Given the description of an element on the screen output the (x, y) to click on. 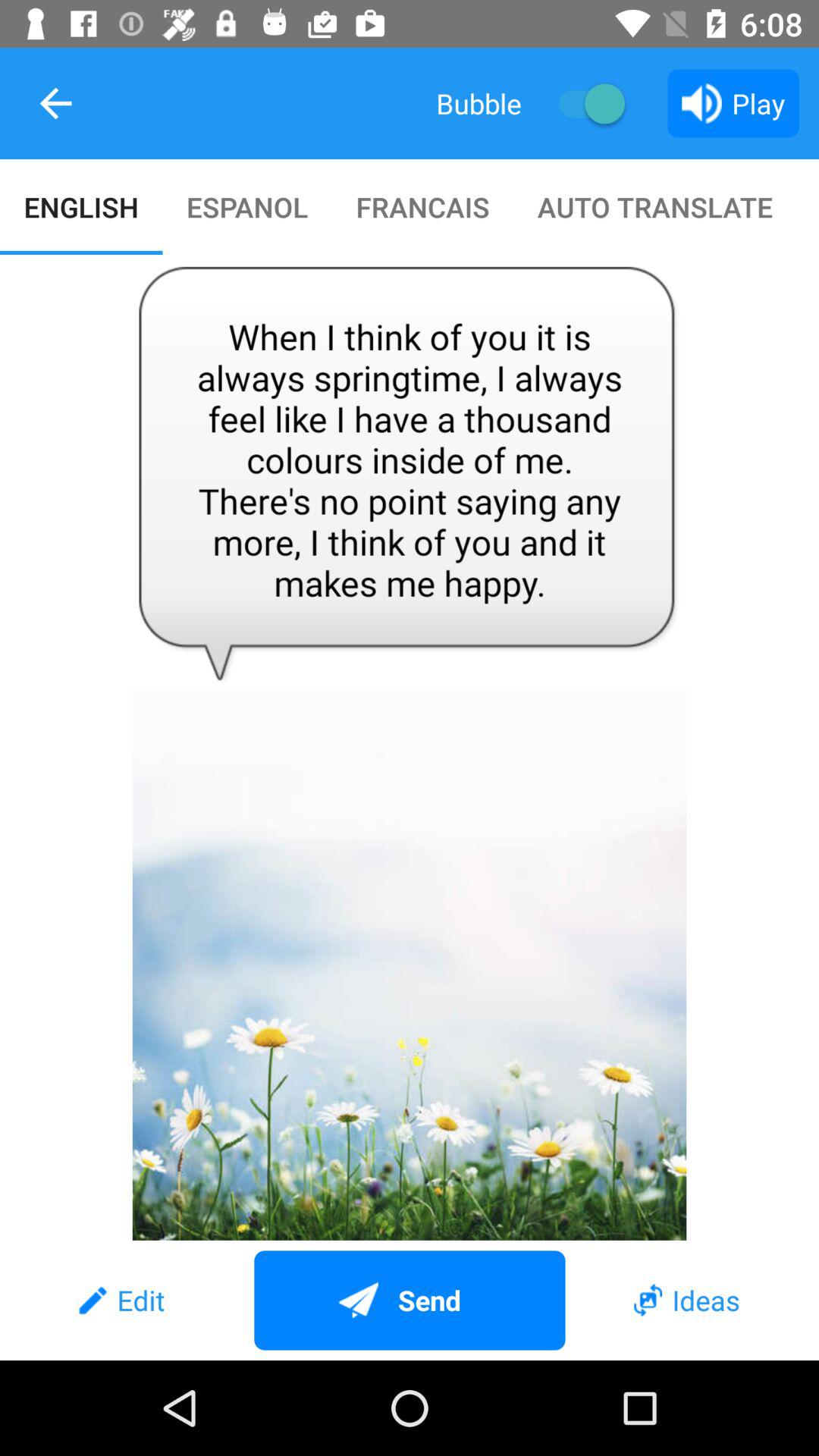
choose item below the english (409, 748)
